Given the description of an element on the screen output the (x, y) to click on. 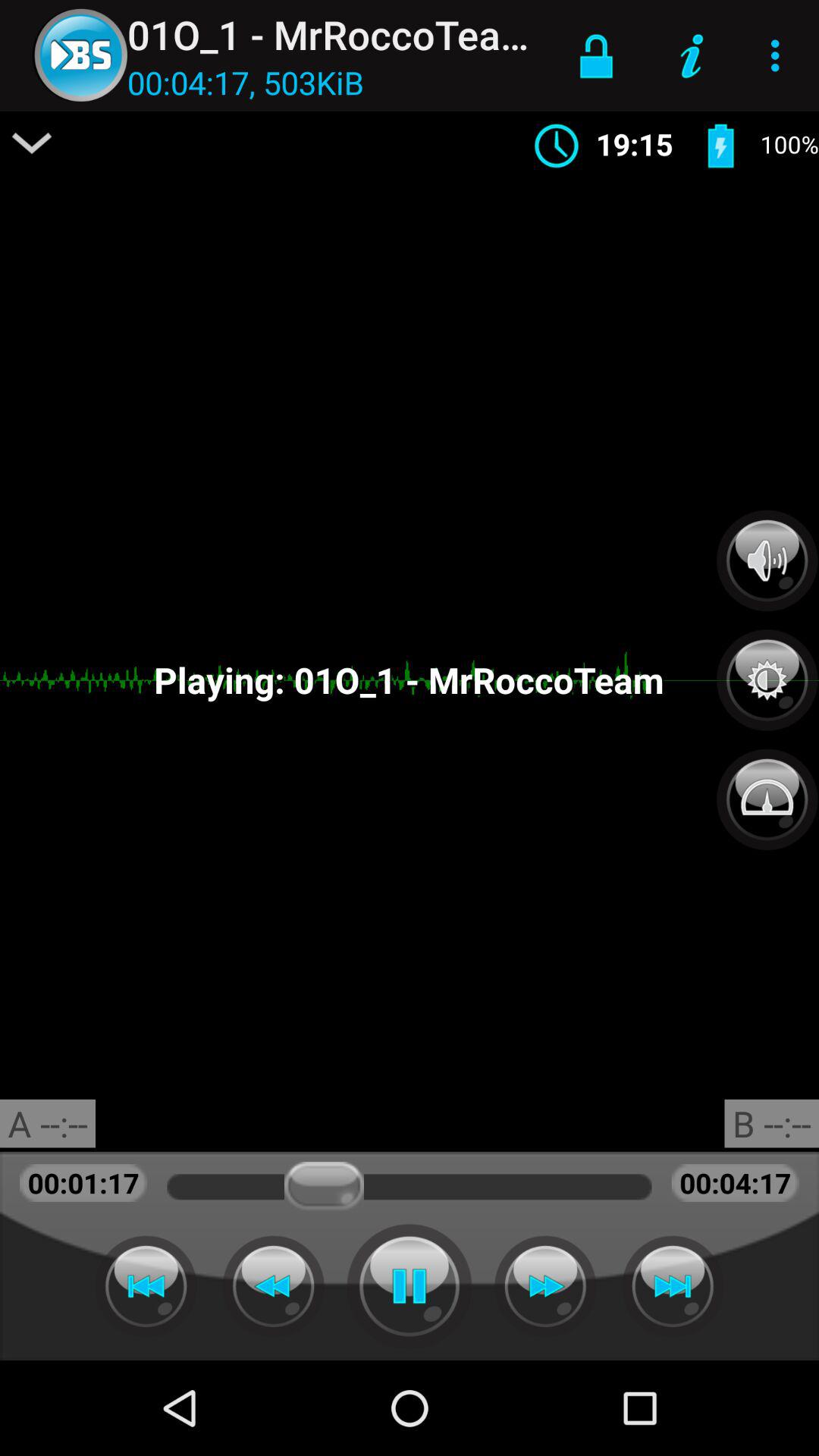
show options (31, 143)
